Given the description of an element on the screen output the (x, y) to click on. 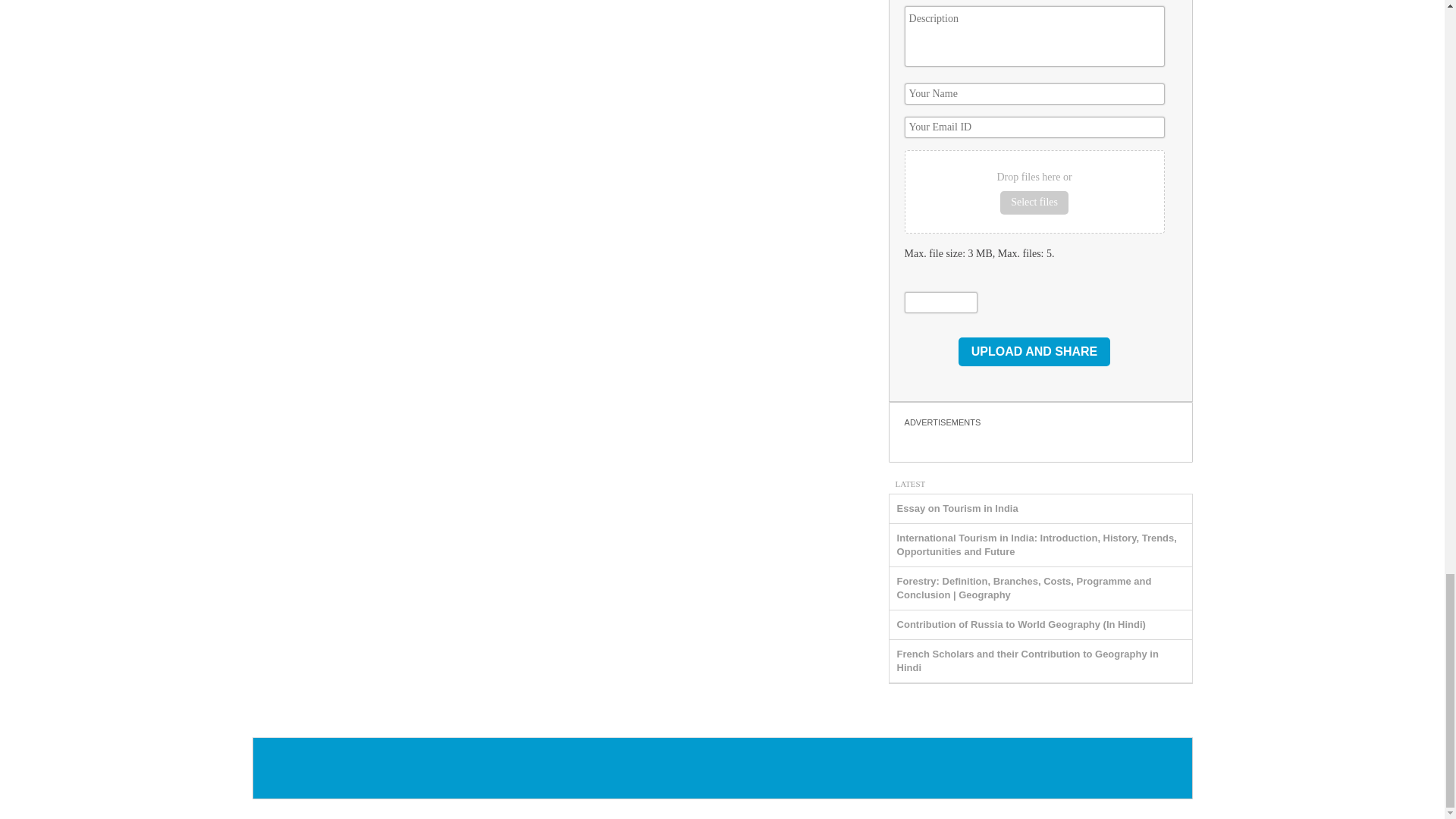
Upload and Share (1033, 351)
Upload and Share (1033, 351)
French Scholars and their Contribution to Geography in Hindi (1027, 660)
Select files (1034, 202)
Essay on Tourism in India (956, 508)
Essay on Tourism in India (956, 508)
LATEST (910, 482)
French Scholars and their Contribution to Geography in Hindi (1027, 660)
